Given the description of an element on the screen output the (x, y) to click on. 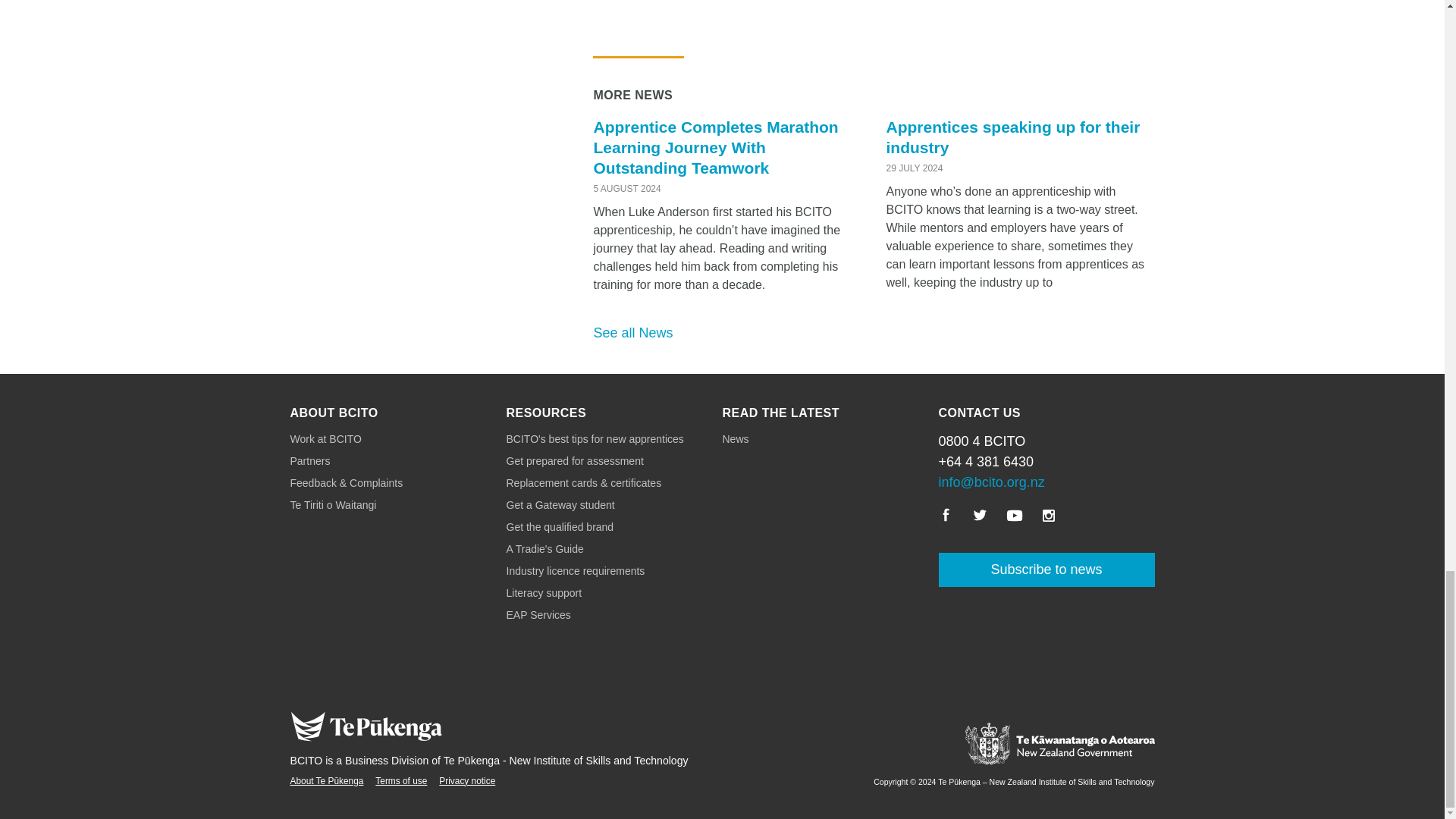
Industry licence requirements (614, 571)
ABOUT BCITO (333, 412)
RESOURCES (546, 412)
Twitter (980, 515)
See all News (632, 332)
Open the New Zealand Government website in a new tab.  (938, 746)
Literacy support (614, 593)
Partners (397, 461)
Apprentices speaking up for their industry (1012, 136)
A Tradie's Guide (614, 549)
Facebook (947, 515)
Work at BCITO (397, 439)
Get the qualified brand (614, 527)
YouTube (1015, 515)
